Given the description of an element on the screen output the (x, y) to click on. 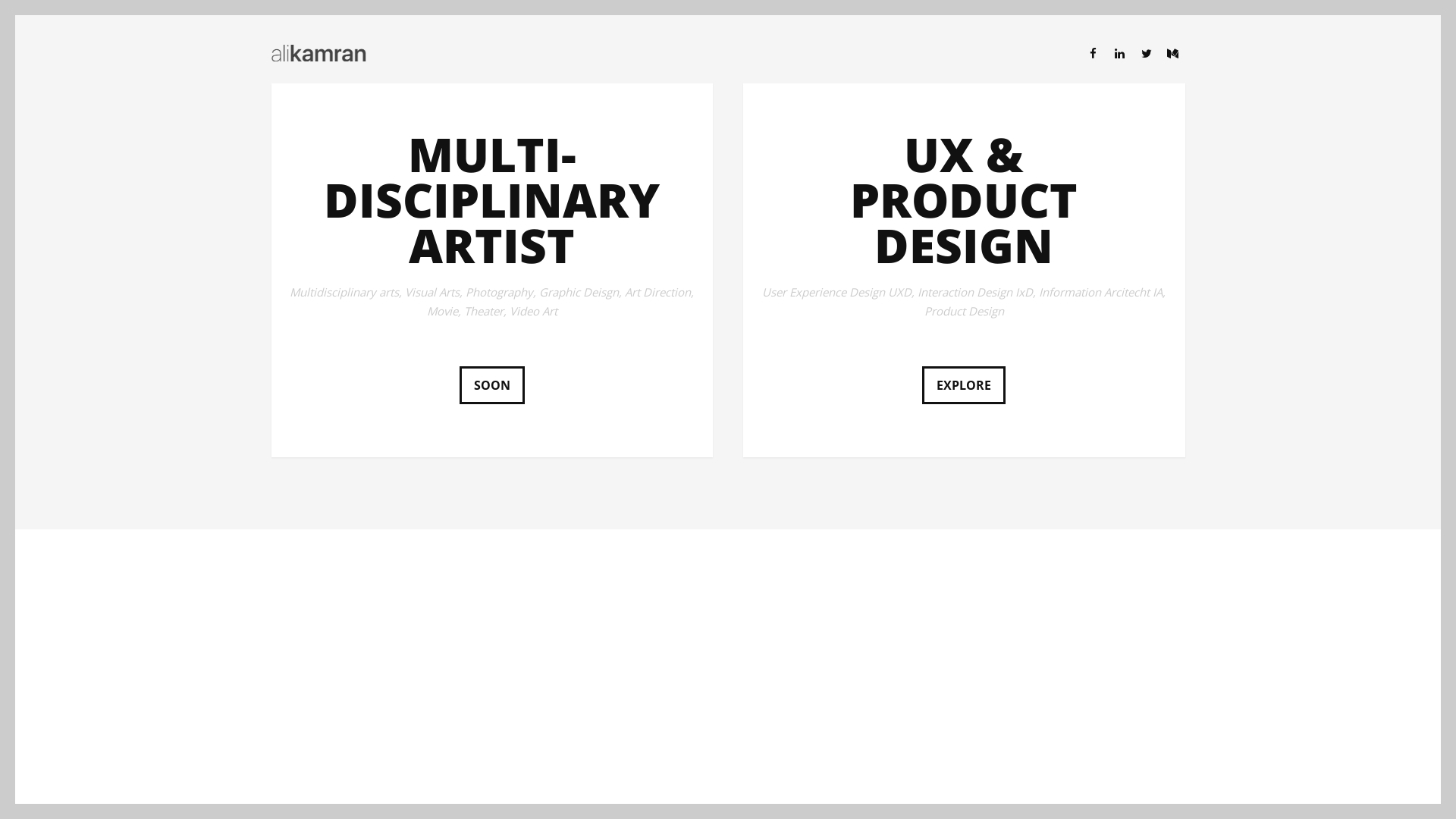
Facebook Element type: hover (1093, 53)
EXPLORE Element type: text (963, 385)
Twitter Element type: hover (1146, 53)
SOON Element type: text (491, 385)
Medium Element type: hover (1172, 53)
LinkedIn+ Element type: hover (1119, 53)
